Given the description of an element on the screen output the (x, y) to click on. 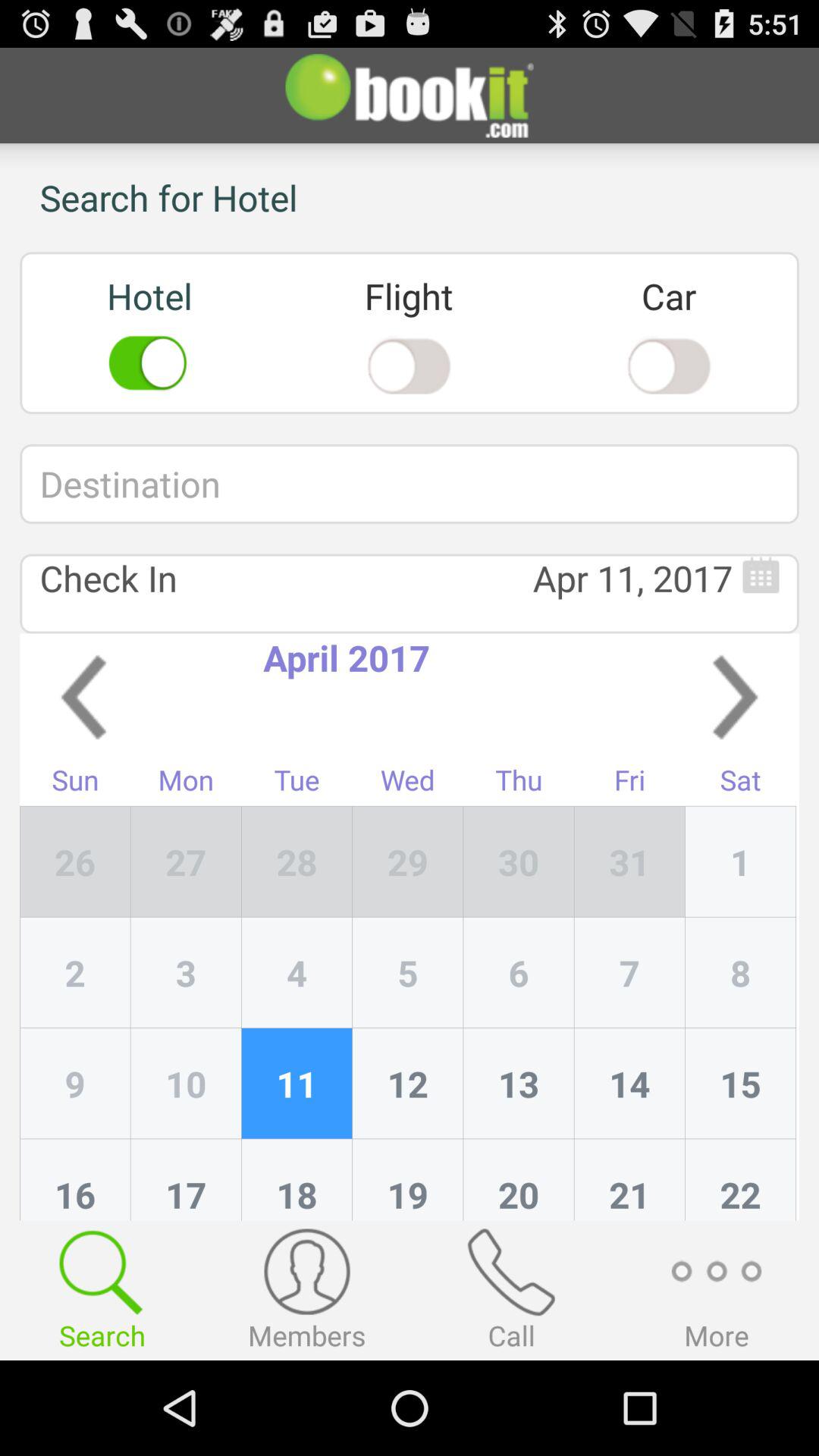
launch the icon next to the fri app (518, 861)
